Given the description of an element on the screen output the (x, y) to click on. 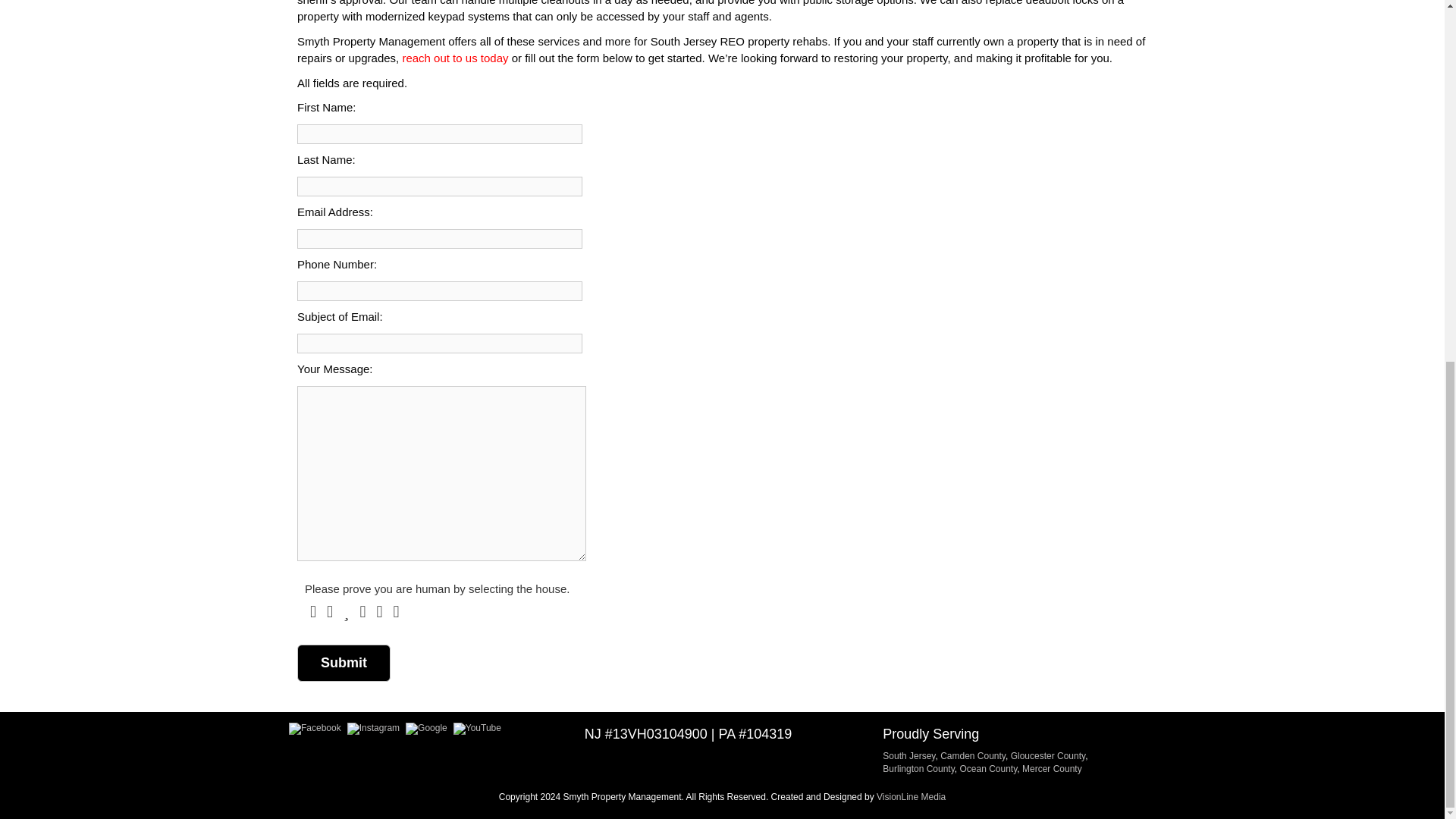
Instagram (372, 728)
Google (426, 728)
Burlington County (918, 768)
Gloucester County (1048, 756)
Google (426, 727)
reach out to us today (454, 57)
YouTube (476, 728)
Submit (343, 662)
Instagram (373, 727)
VisionLine Media (910, 796)
